Given the description of an element on the screen output the (x, y) to click on. 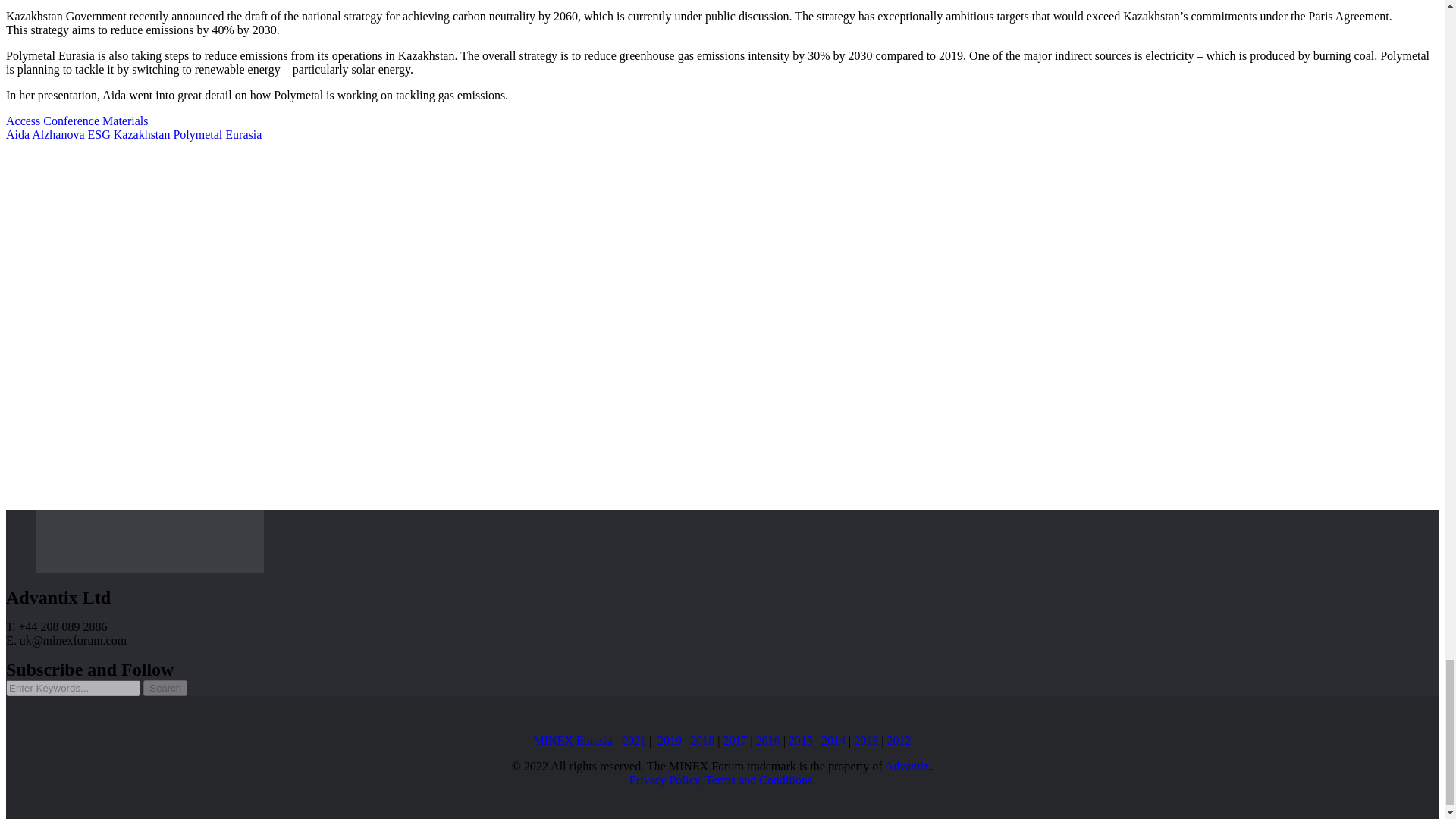
Search (164, 688)
